Given the description of an element on the screen output the (x, y) to click on. 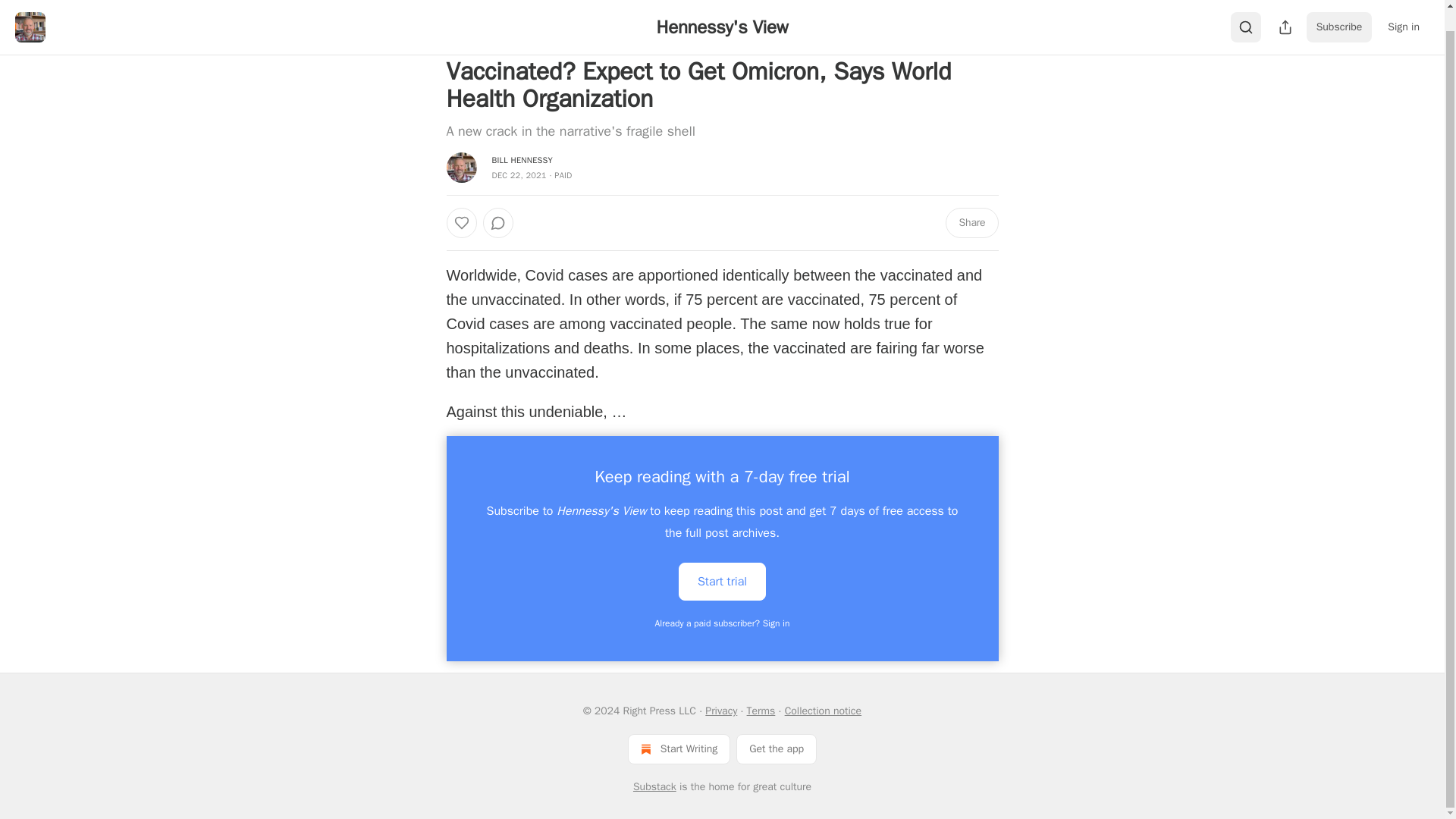
Share (970, 223)
Get the app (776, 748)
Start Writing (678, 748)
Start trial (721, 581)
Privacy (720, 710)
Hennessy's View (722, 9)
Substack (655, 786)
Already a paid subscriber? Sign in (722, 623)
BILL HENNESSY (521, 159)
Start trial (721, 579)
Sign in (1403, 11)
Terms (761, 710)
Subscribe (1339, 11)
Collection notice (822, 710)
